Given the description of an element on the screen output the (x, y) to click on. 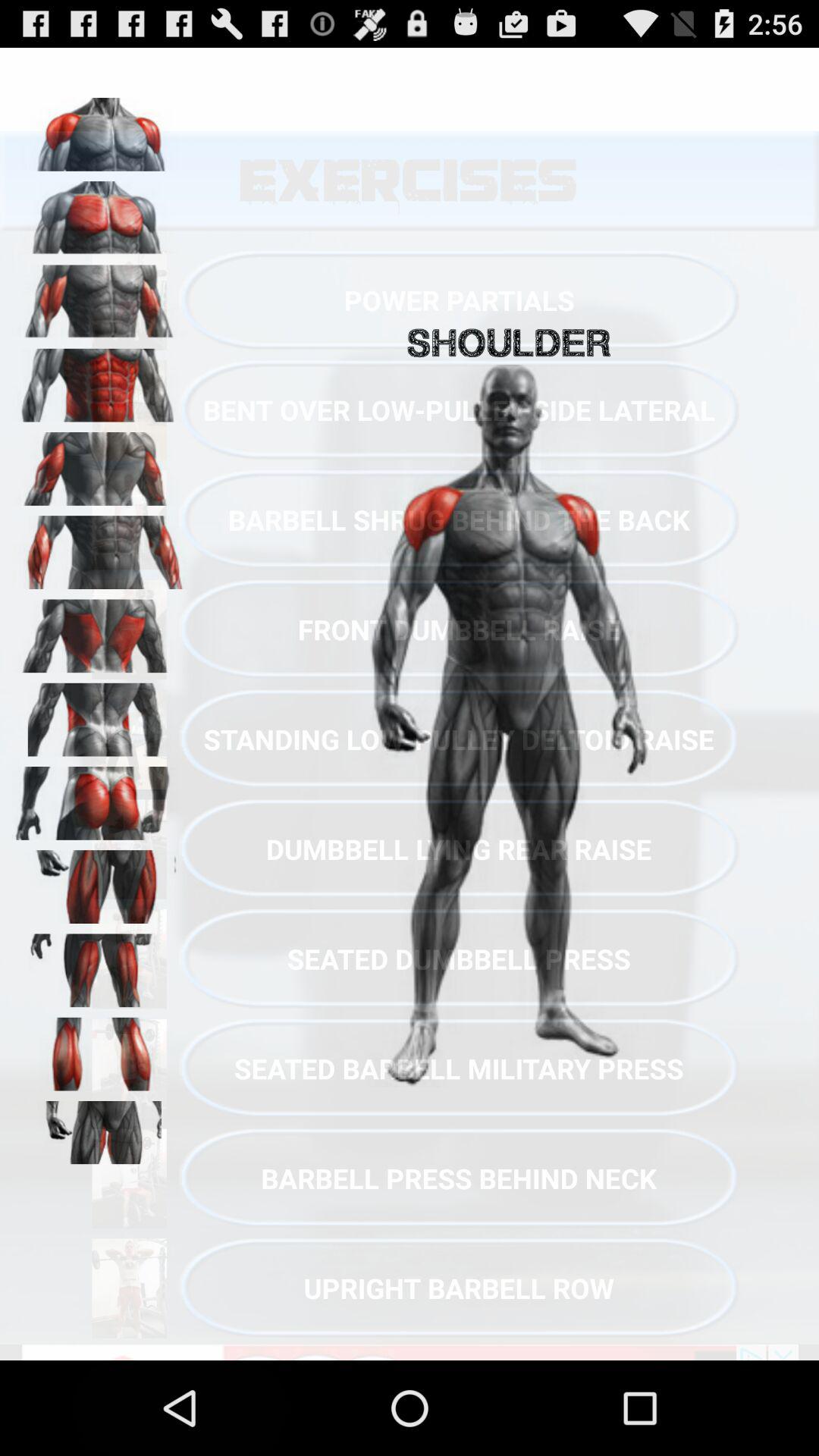
select hip area (99, 714)
